Given the description of an element on the screen output the (x, y) to click on. 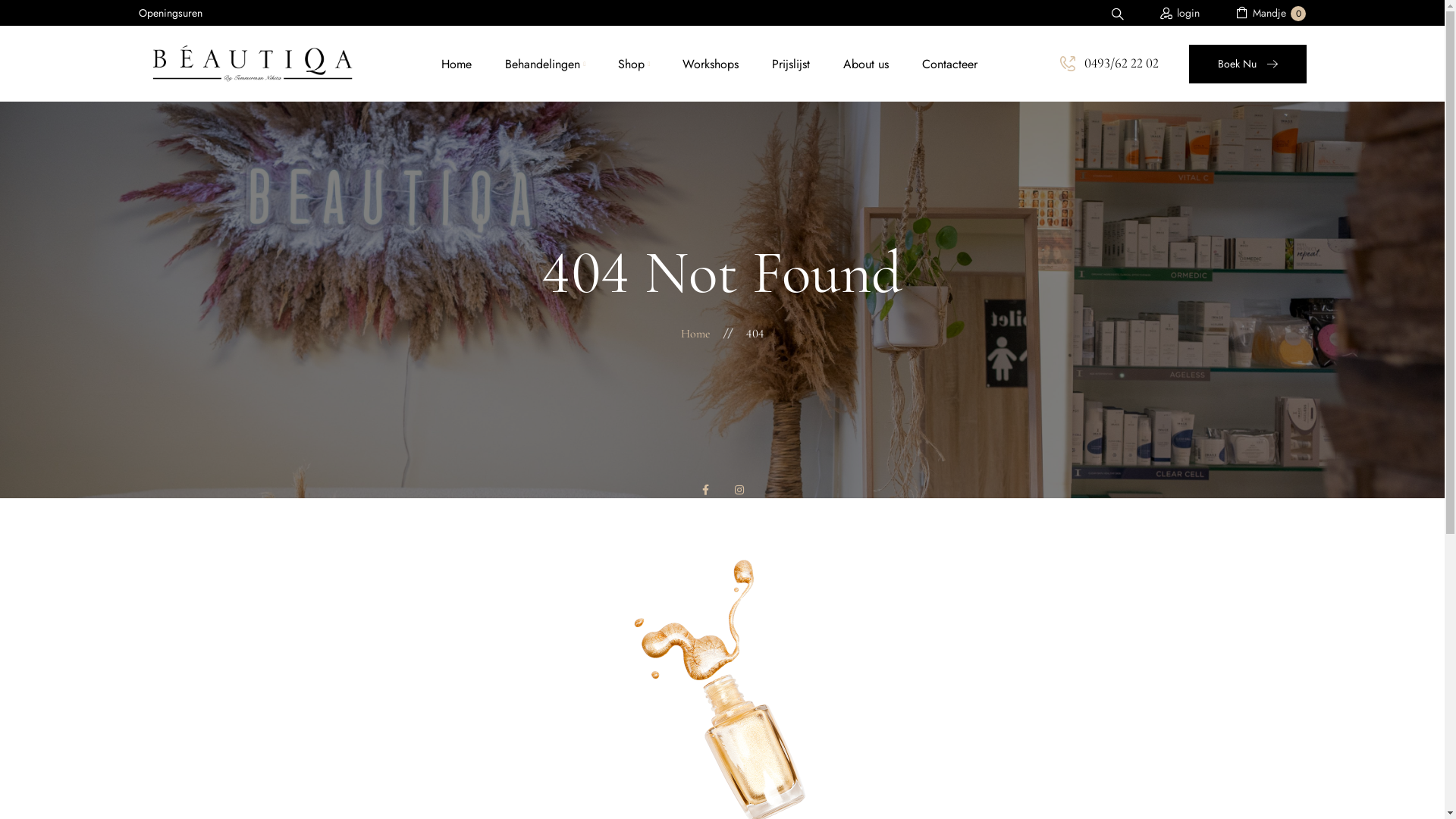
Home Element type: text (695, 333)
Prijslijst Element type: text (790, 63)
Boek Nu Element type: text (1247, 63)
Home Element type: text (456, 63)
Behandelingen Element type: text (542, 63)
Contacteer Element type: text (949, 63)
Shop Element type: text (630, 63)
0493/62 22 02 Element type: text (1109, 63)
login Element type: text (1179, 12)
Workshops Element type: text (710, 63)
Mandje0 Element type: text (1270, 12)
About us Element type: text (865, 63)
Openingsuren Element type: text (169, 12)
